Given the description of an element on the screen output the (x, y) to click on. 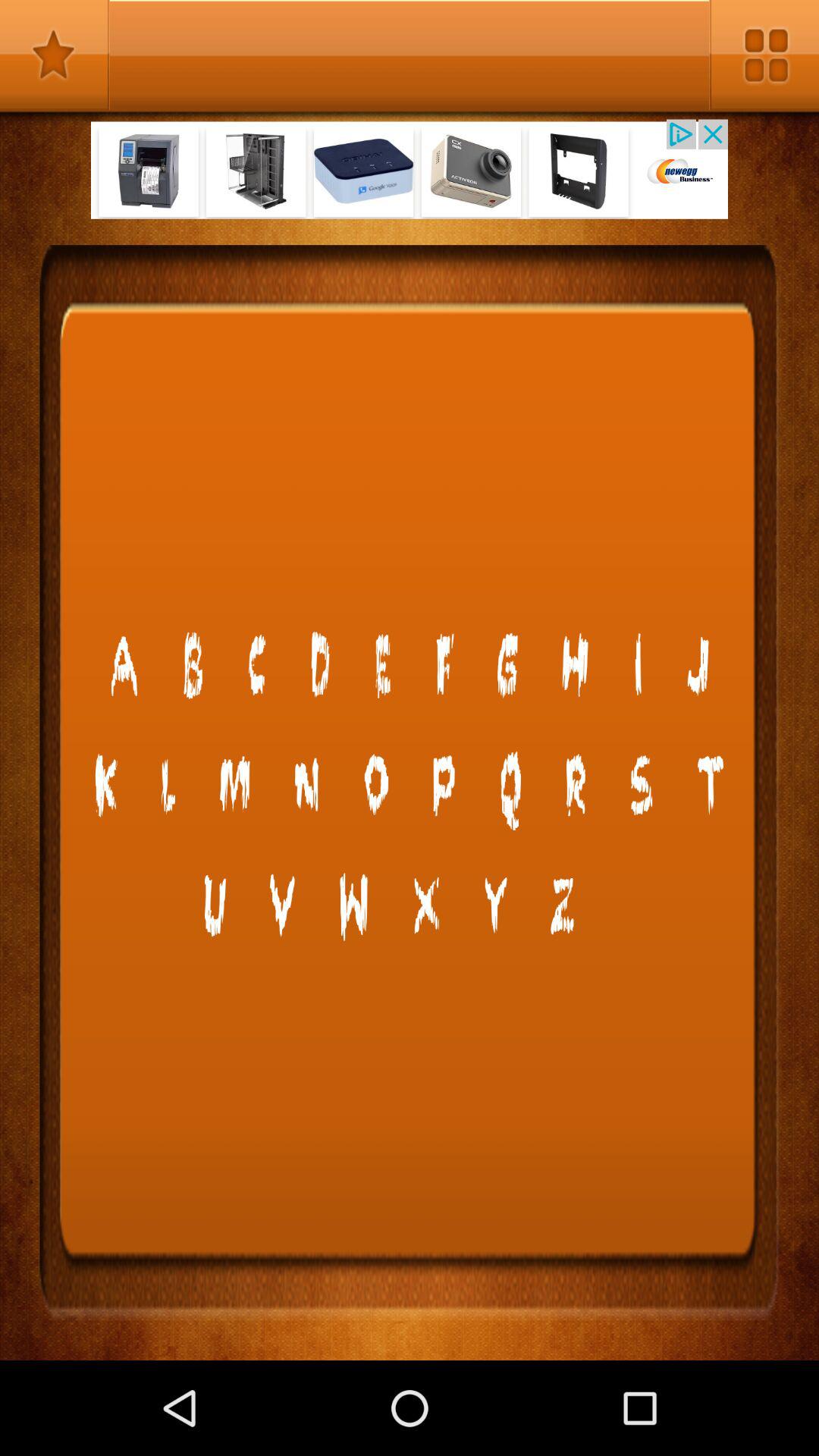
star rating (54, 54)
